Given the description of an element on the screen output the (x, y) to click on. 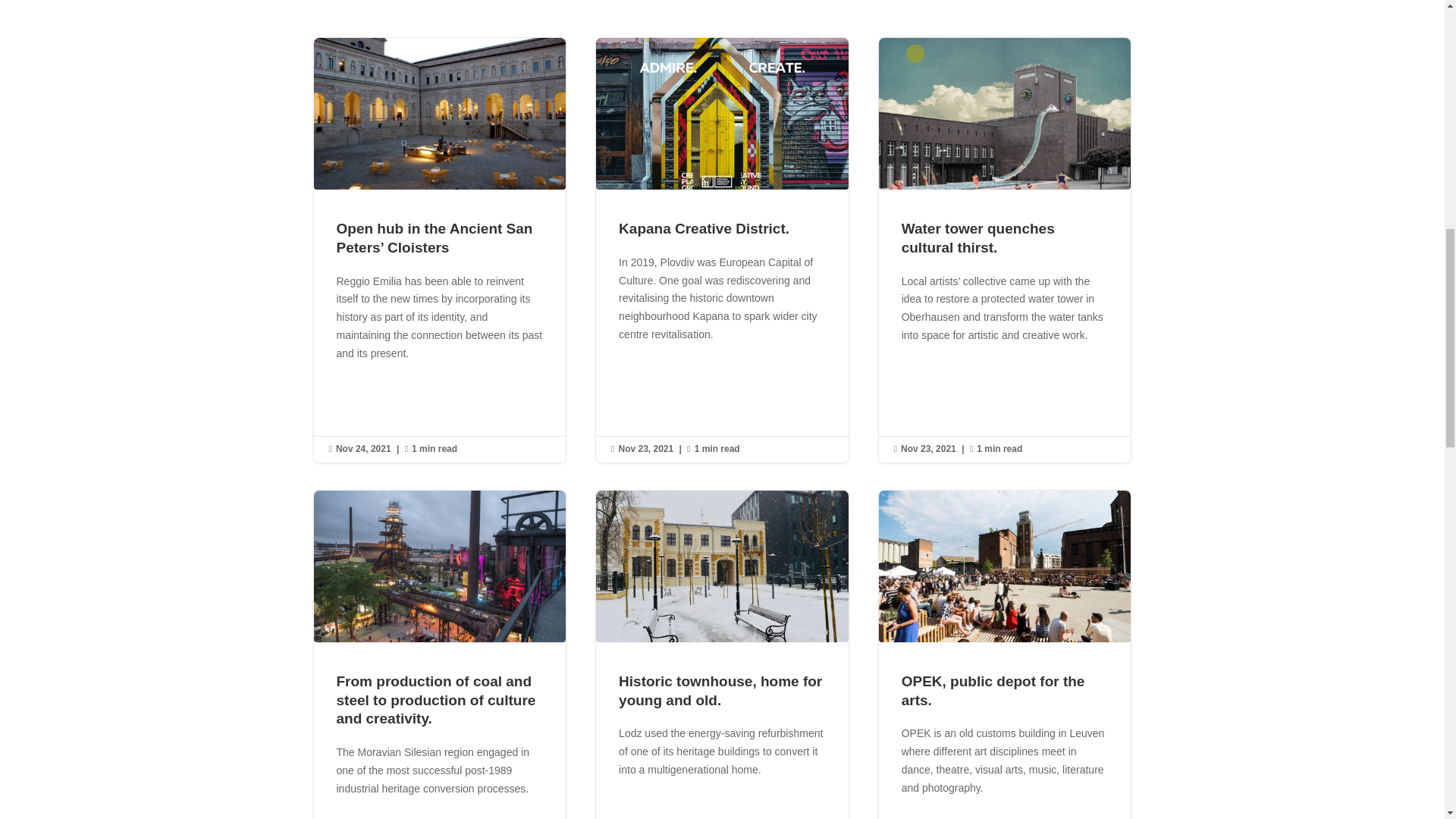
Read More (660, 392)
Read More (378, 816)
Kapana Creative District. (703, 228)
Read More (660, 816)
Historic townhouse, home for young and old. (720, 690)
Read More (943, 392)
Water tower quenches cultural thirst. (977, 237)
Read More (378, 392)
